Given the description of an element on the screen output the (x, y) to click on. 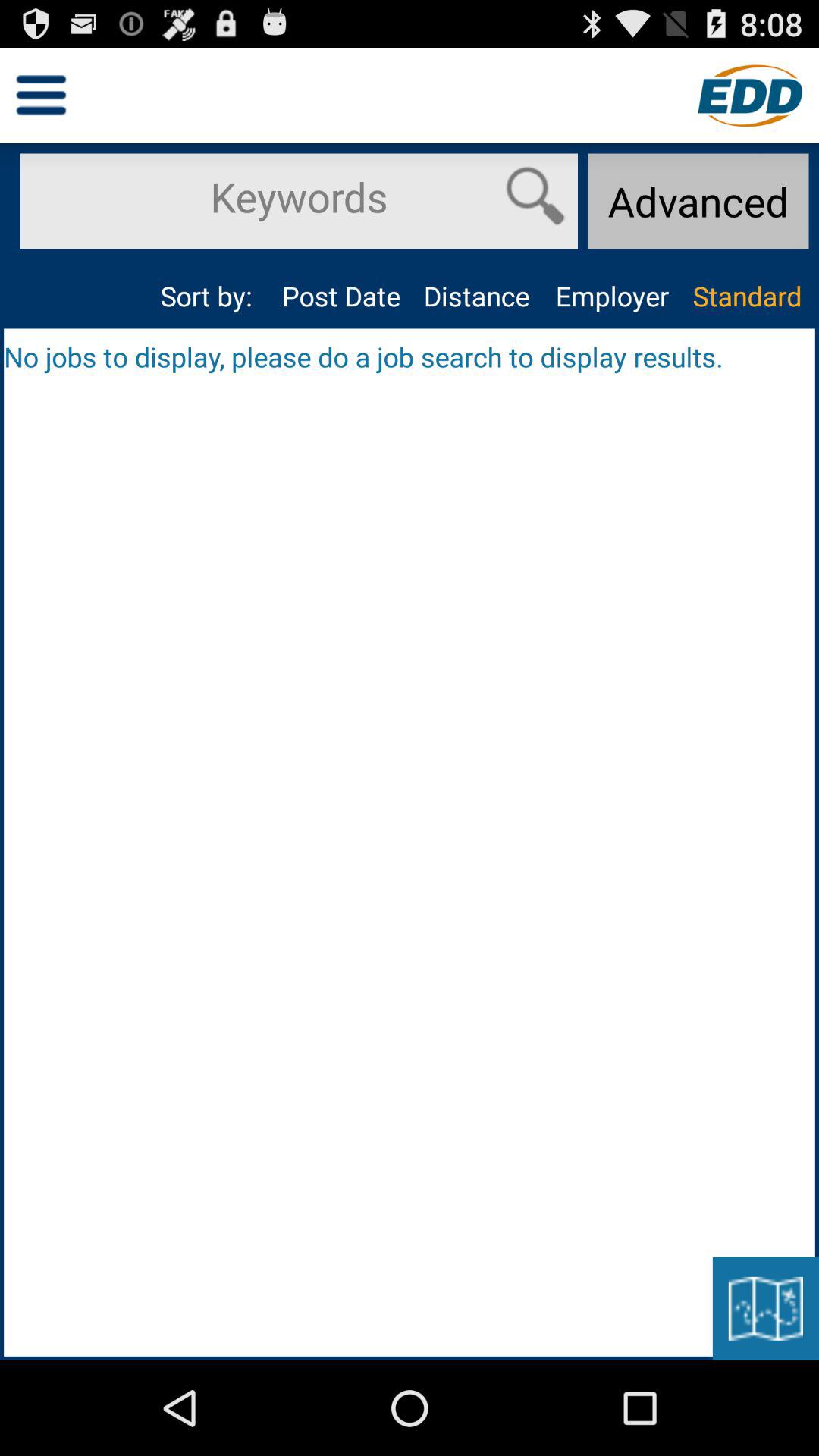
click the app next to the sort by: (341, 295)
